Given the description of an element on the screen output the (x, y) to click on. 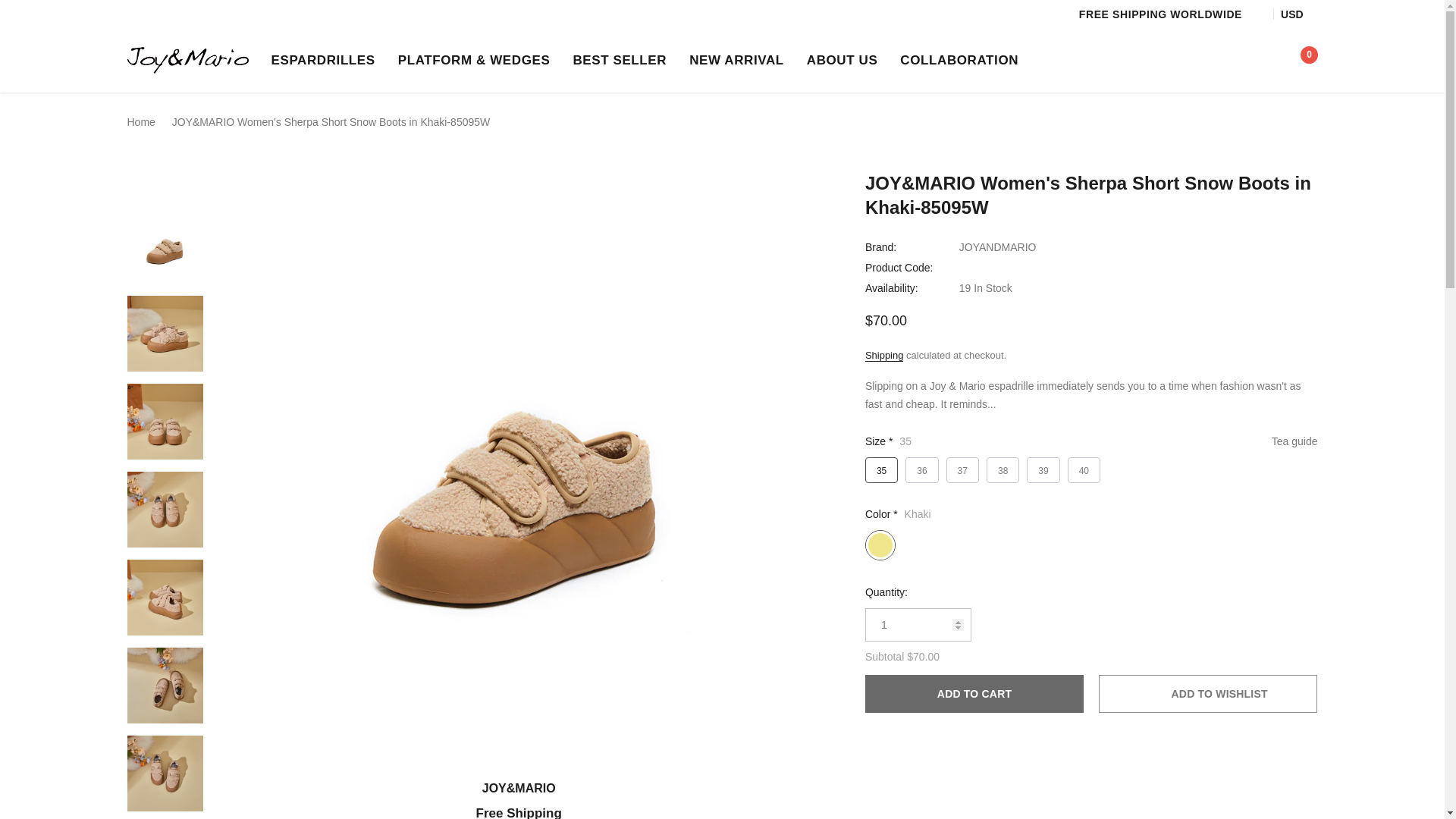
35 (881, 470)
37 (962, 470)
COLLABORATION (958, 60)
Currency (1299, 13)
40 (1083, 470)
39 (1042, 470)
Khaki (879, 544)
BEST SELLER (619, 60)
38 (1003, 470)
JOYANDMARIO (997, 246)
